Given the description of an element on the screen output the (x, y) to click on. 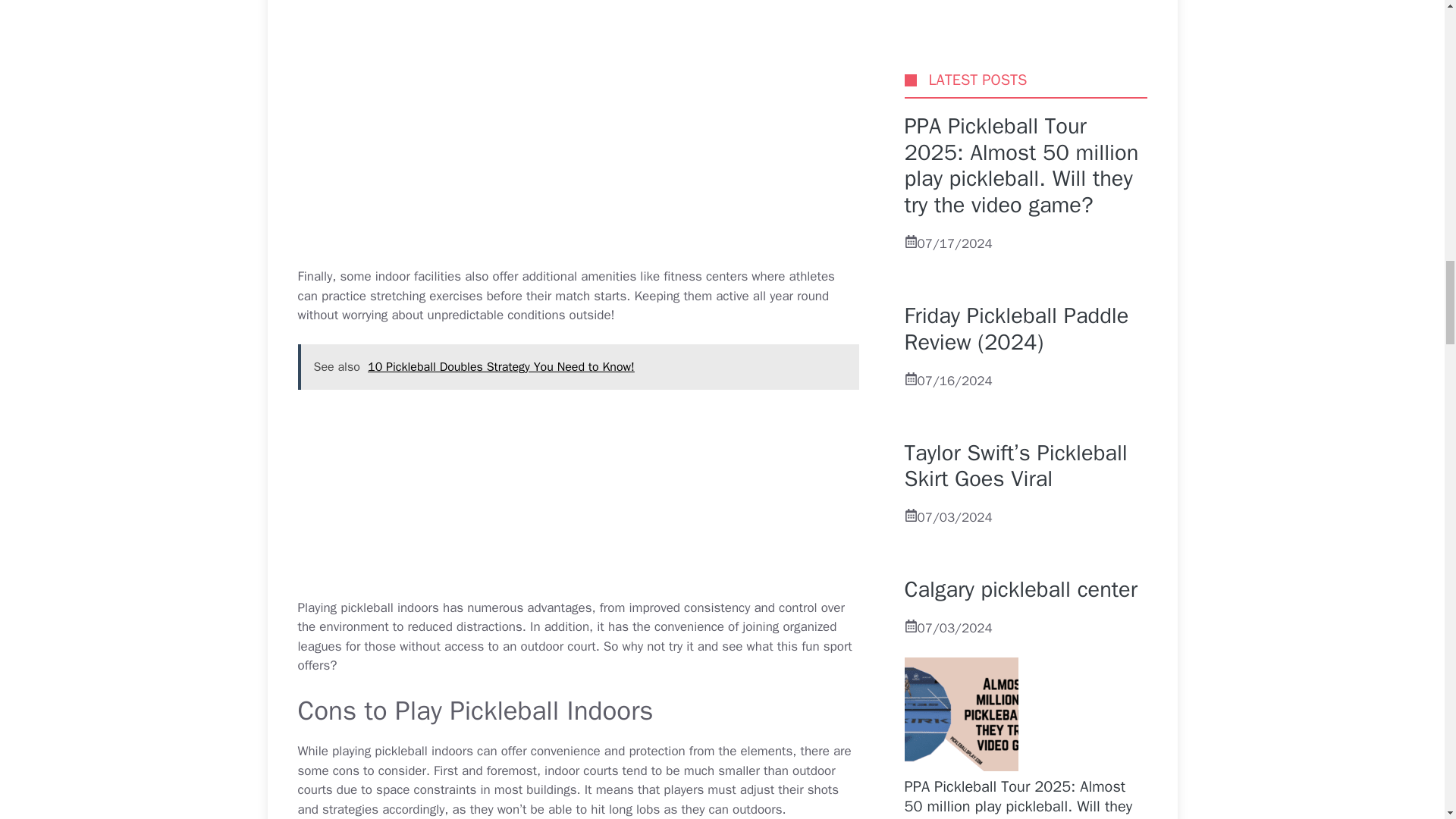
See also  10 Pickleball Doubles Strategy You Need to Know! (578, 366)
